Given the description of an element on the screen output the (x, y) to click on. 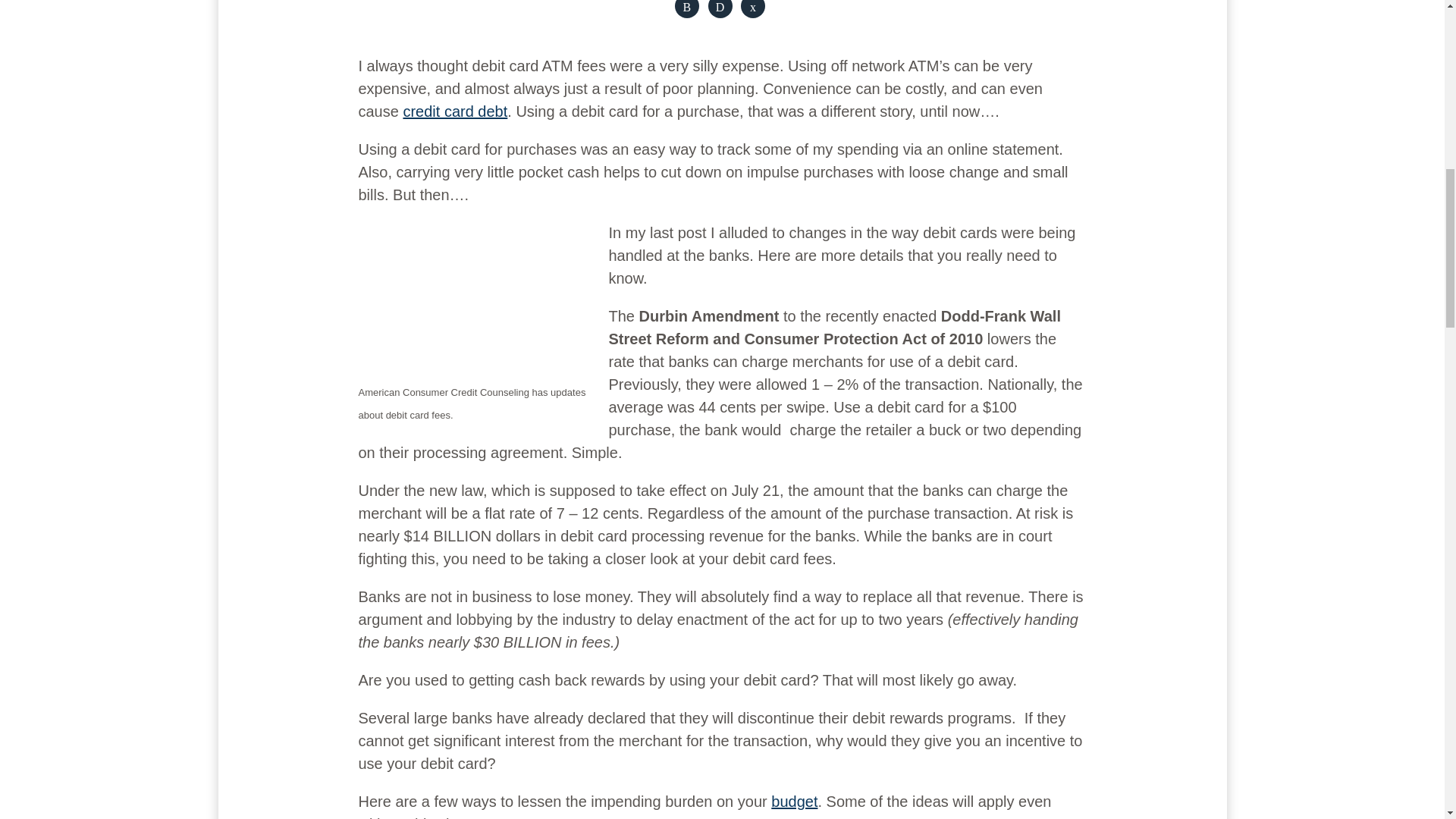
budget (793, 801)
credit card debt (454, 111)
